Given the description of an element on the screen output the (x, y) to click on. 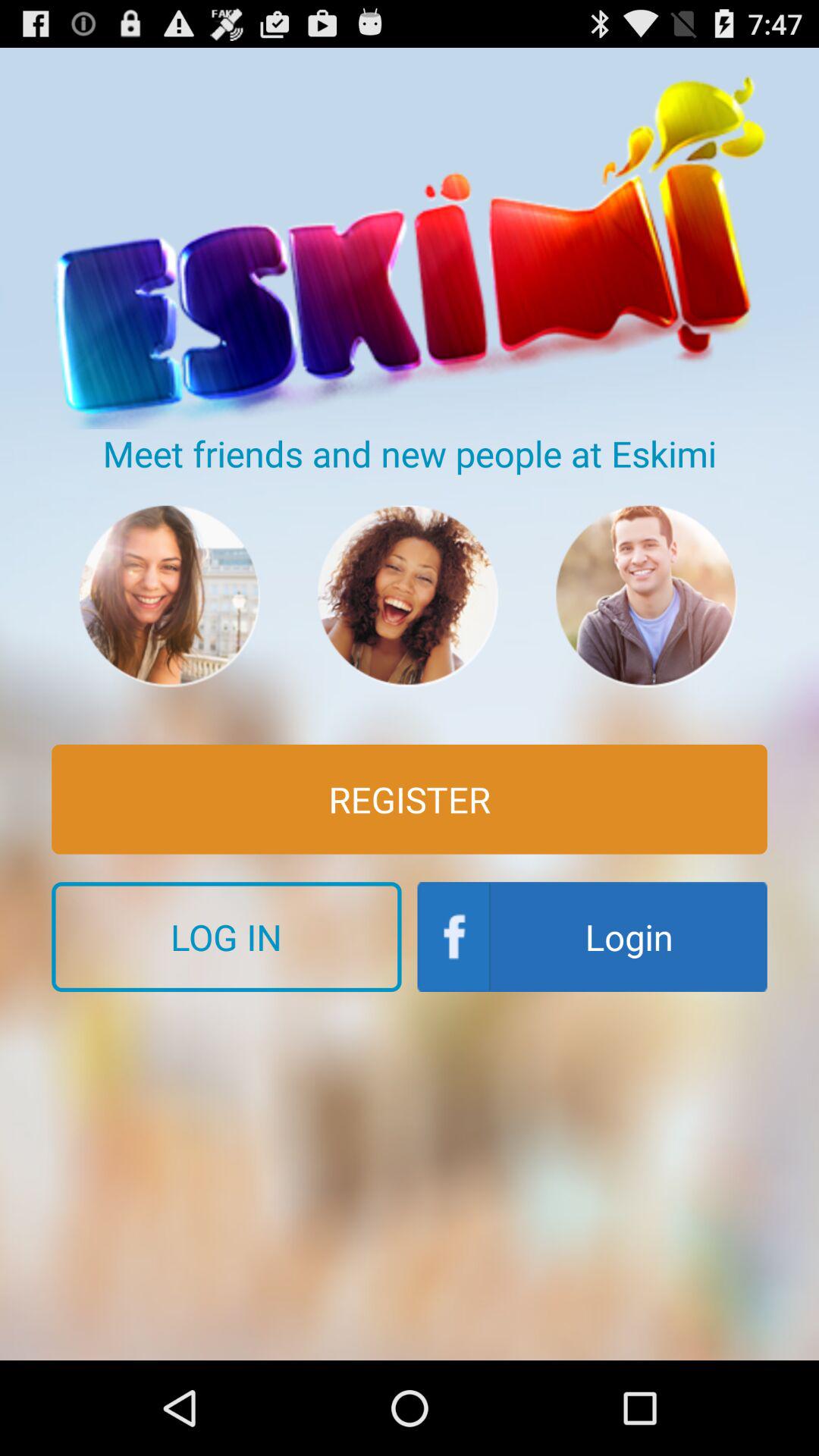
select icon to the left of the login item (226, 936)
